Given the description of an element on the screen output the (x, y) to click on. 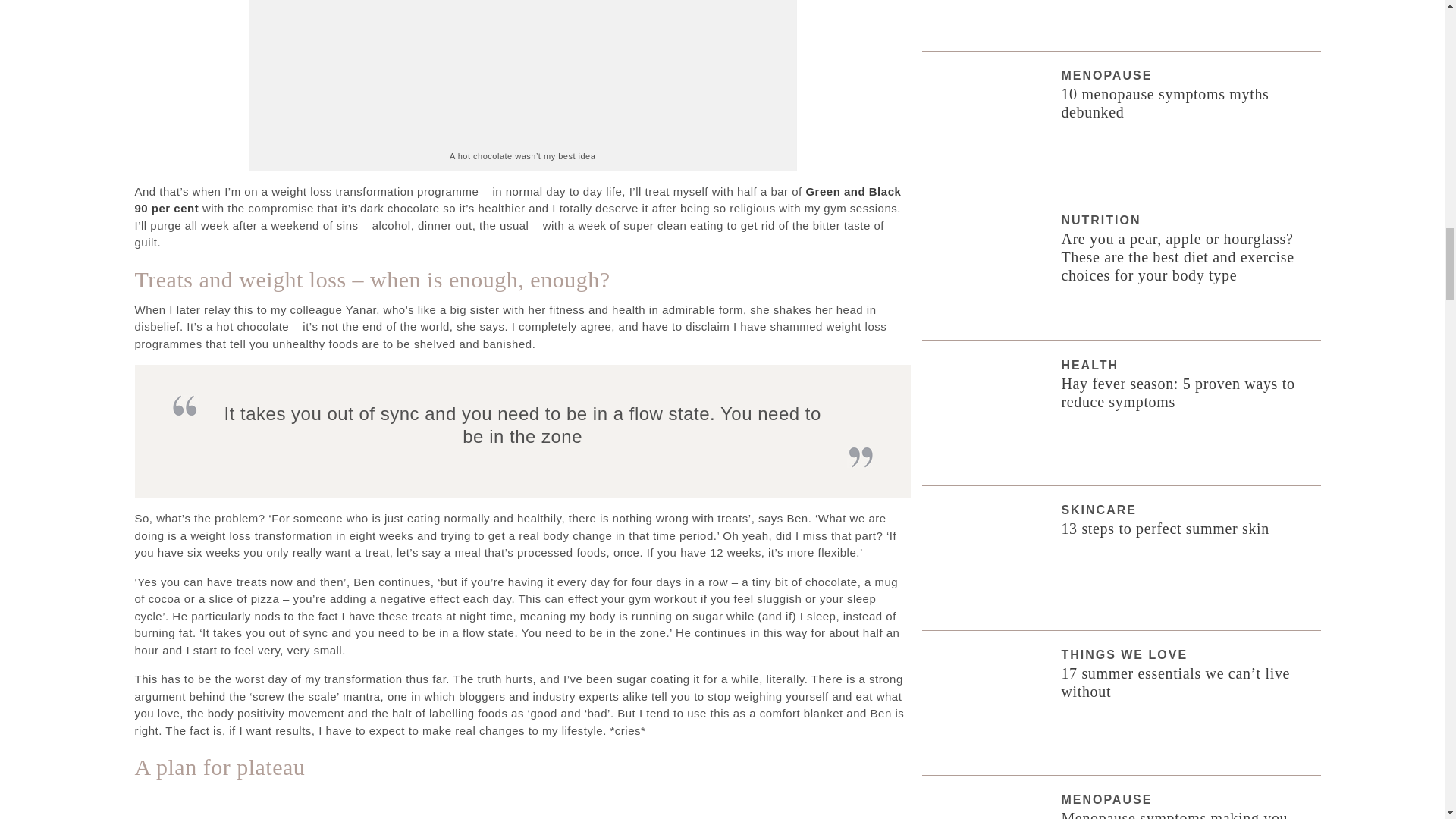
Green and Black 90 per cent (518, 200)
